Given the description of an element on the screen output the (x, y) to click on. 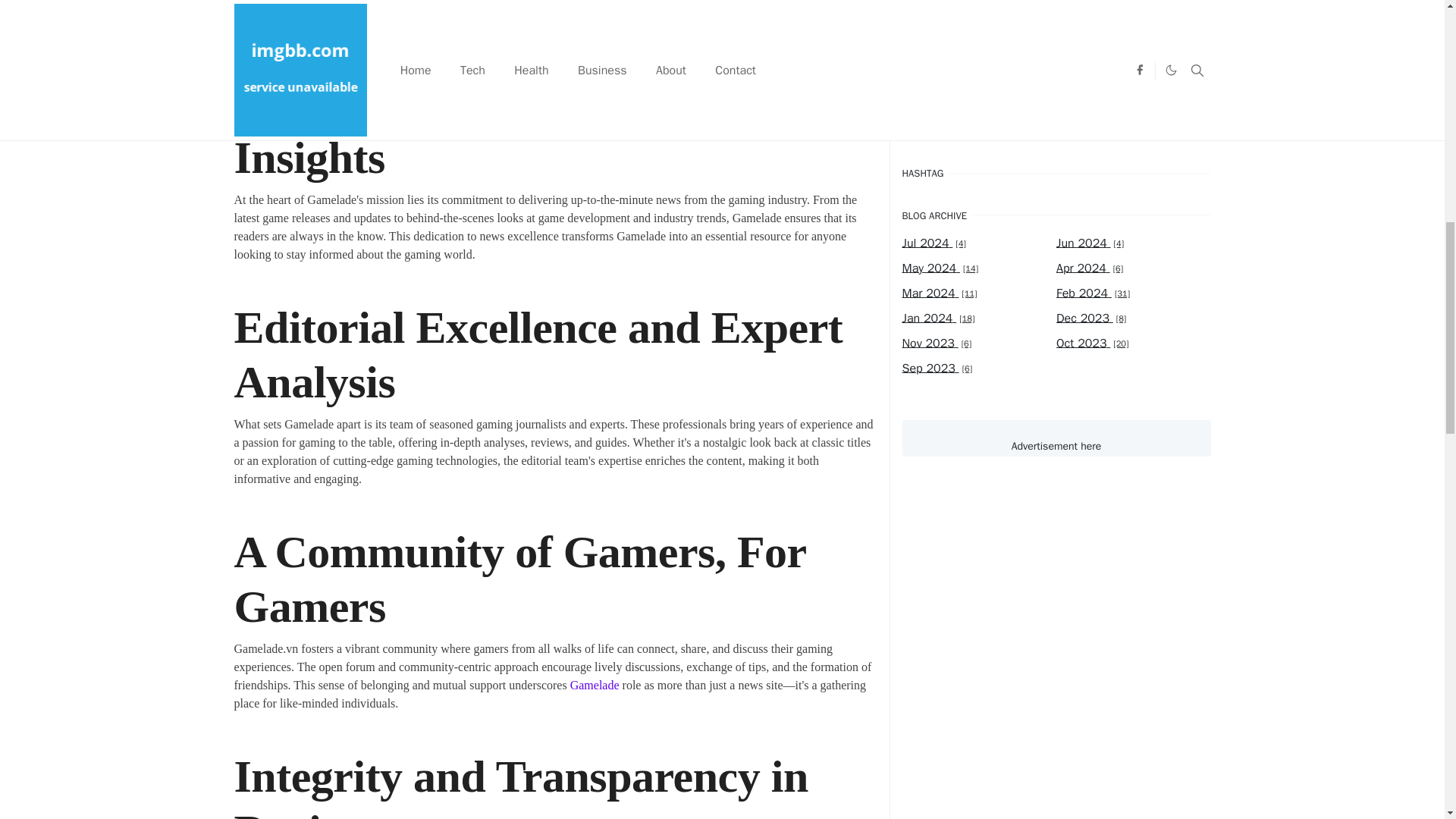
Tin game Gamelade (544, 9)
Gamelade (595, 684)
